Given the description of an element on the screen output the (x, y) to click on. 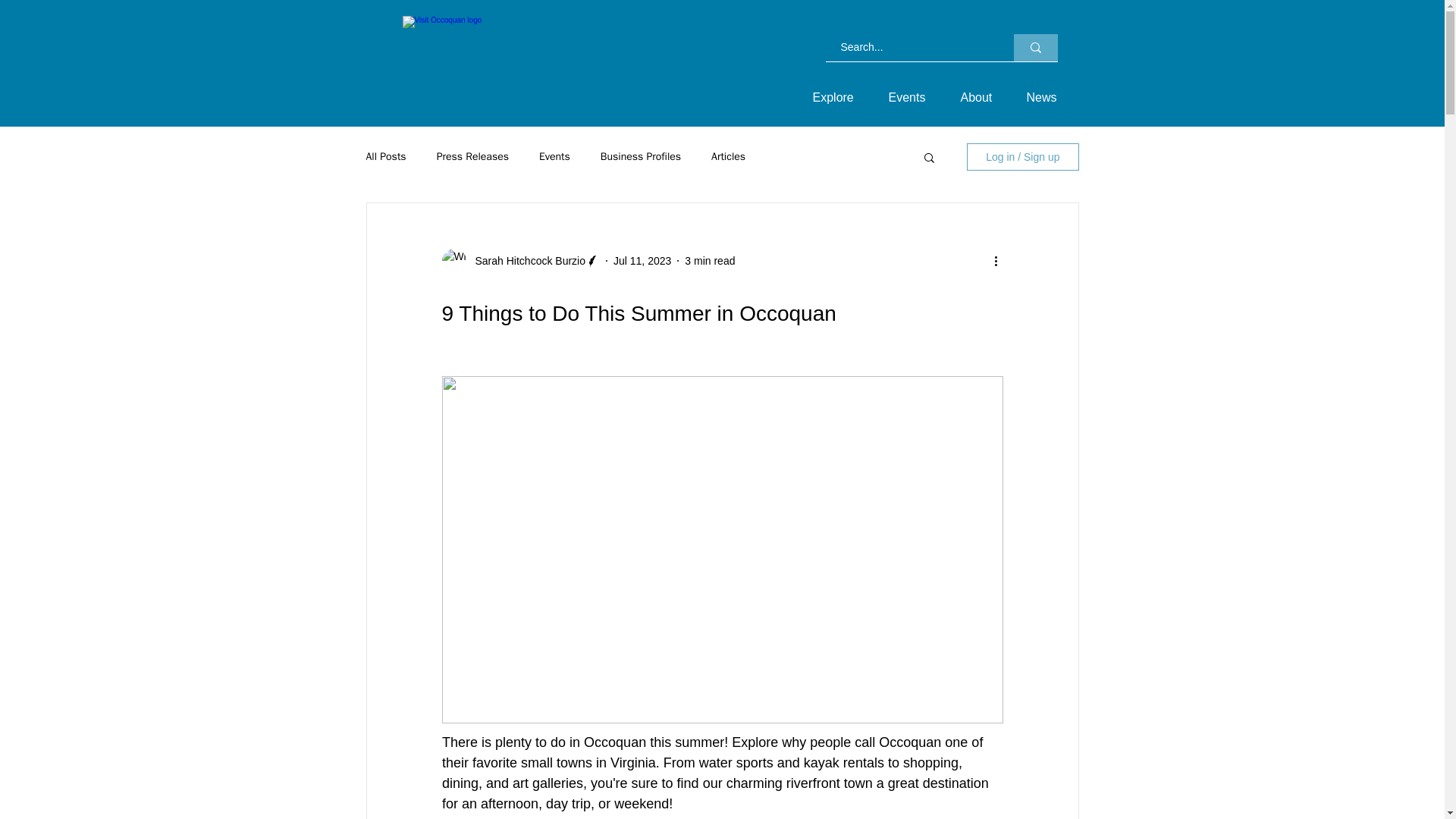
3 min read (709, 260)
Business Profiles (640, 156)
Press Releases (472, 156)
Sarah Hitchcock Burzio (525, 261)
Explore (838, 97)
News (1046, 97)
Events (554, 156)
Articles (728, 156)
Jul 11, 2023 (641, 260)
Events (912, 97)
About (981, 97)
All Posts (385, 156)
